Given the description of an element on the screen output the (x, y) to click on. 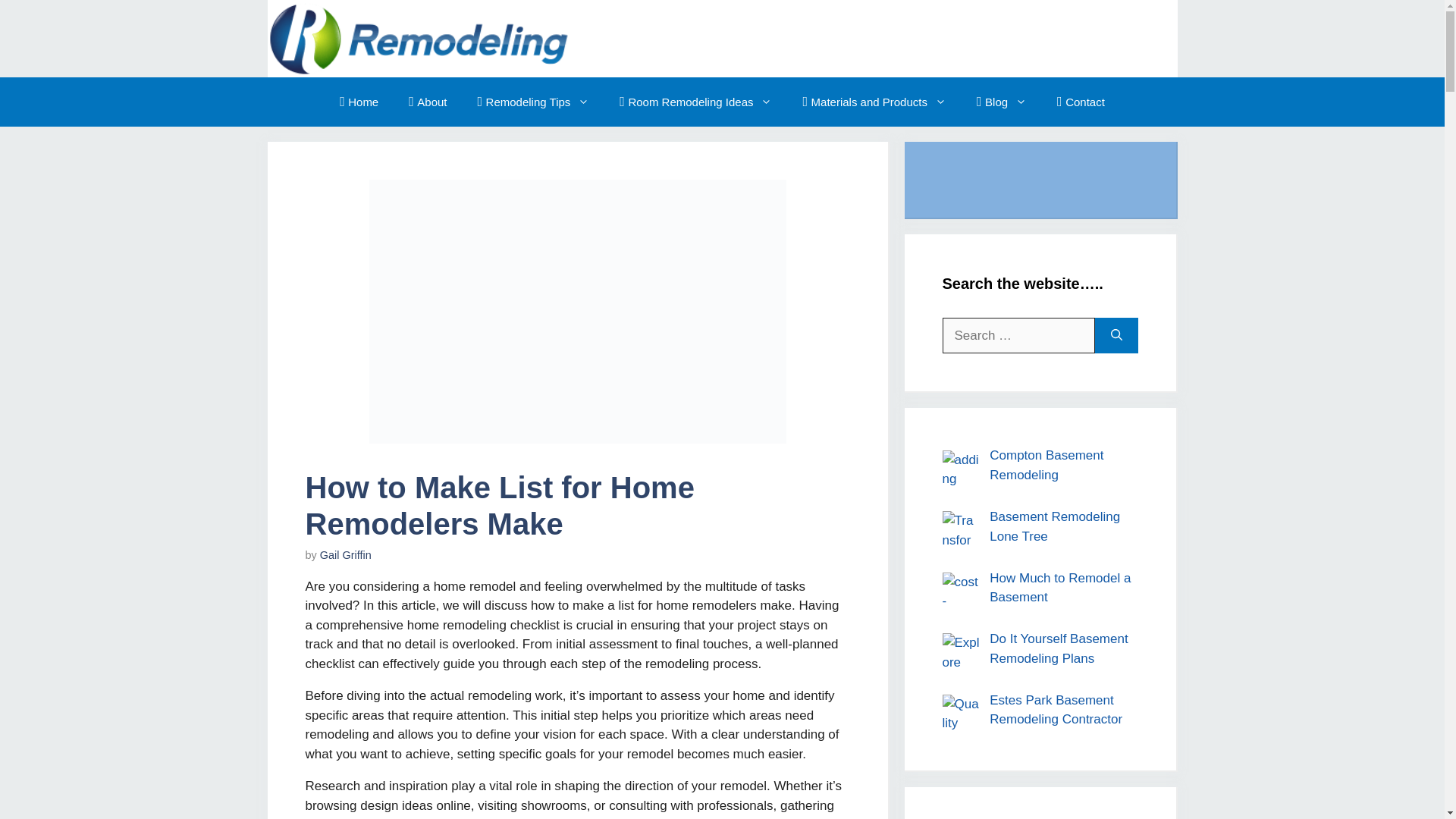
About (427, 101)
Home (358, 101)
View all posts by Gail Griffin (345, 554)
Remodeling Tips (534, 101)
How to Make List for Home Remodelers Make 1 (577, 311)
